Given the description of an element on the screen output the (x, y) to click on. 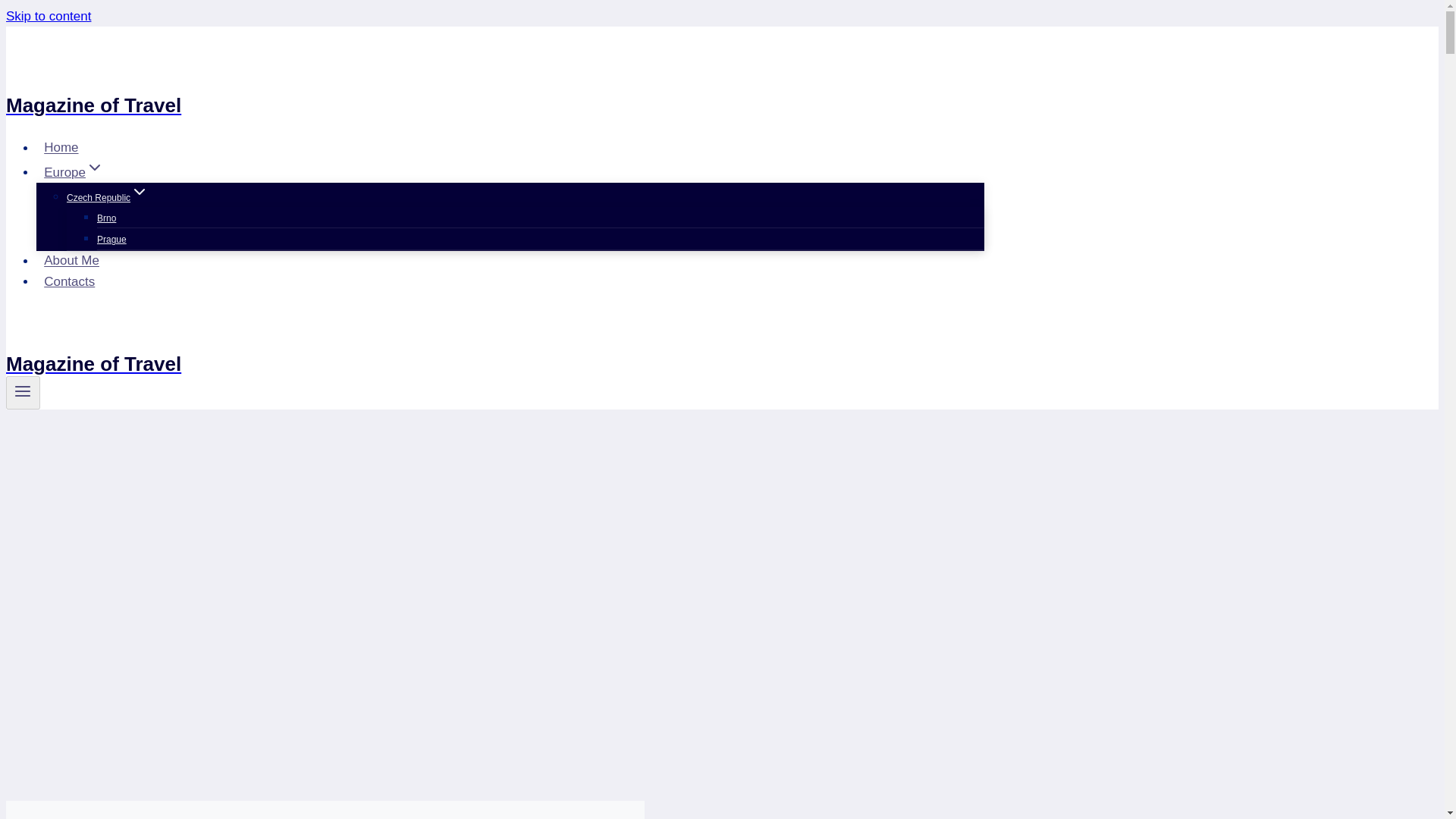
Magazine of Travel (494, 354)
Toggle Menu (22, 392)
Toggle Menu (22, 391)
Czech RepublicExpand (107, 197)
About Me (71, 260)
EuropeExpand (74, 172)
Skip to content (47, 16)
Prague (111, 239)
Expand (94, 167)
Skip to content (47, 16)
Contacts (68, 281)
Home (60, 147)
Magazine of Travel (494, 86)
Expand (139, 191)
